Given the description of an element on the screen output the (x, y) to click on. 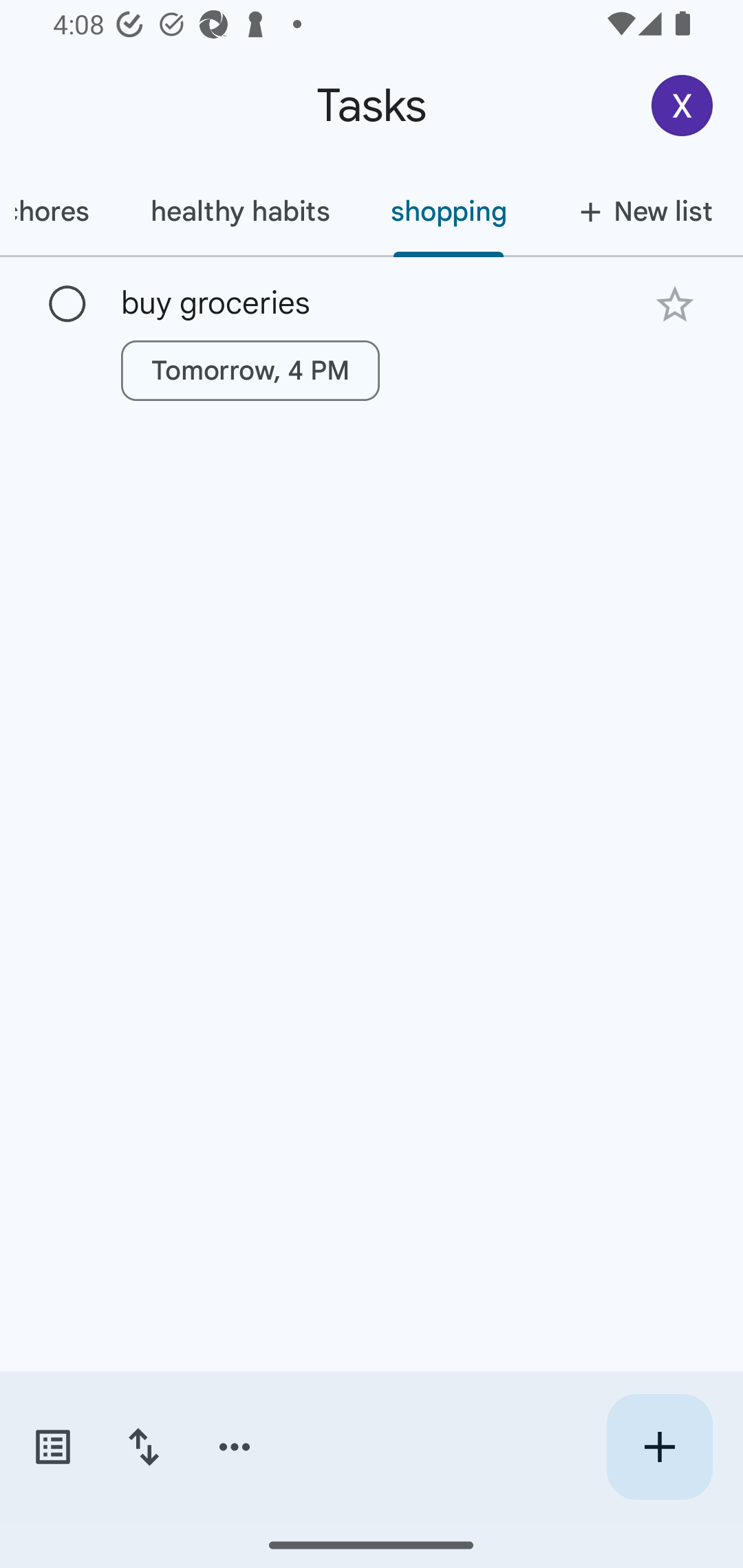
household chores (59, 211)
healthy habits (239, 211)
New list (640, 211)
Add star (674, 303)
Mark as complete (67, 304)
Tomorrow, 4 PM (250, 369)
Switch task lists (52, 1447)
Create new task (659, 1446)
Change sort order (143, 1446)
More options (234, 1446)
